Given the description of an element on the screen output the (x, y) to click on. 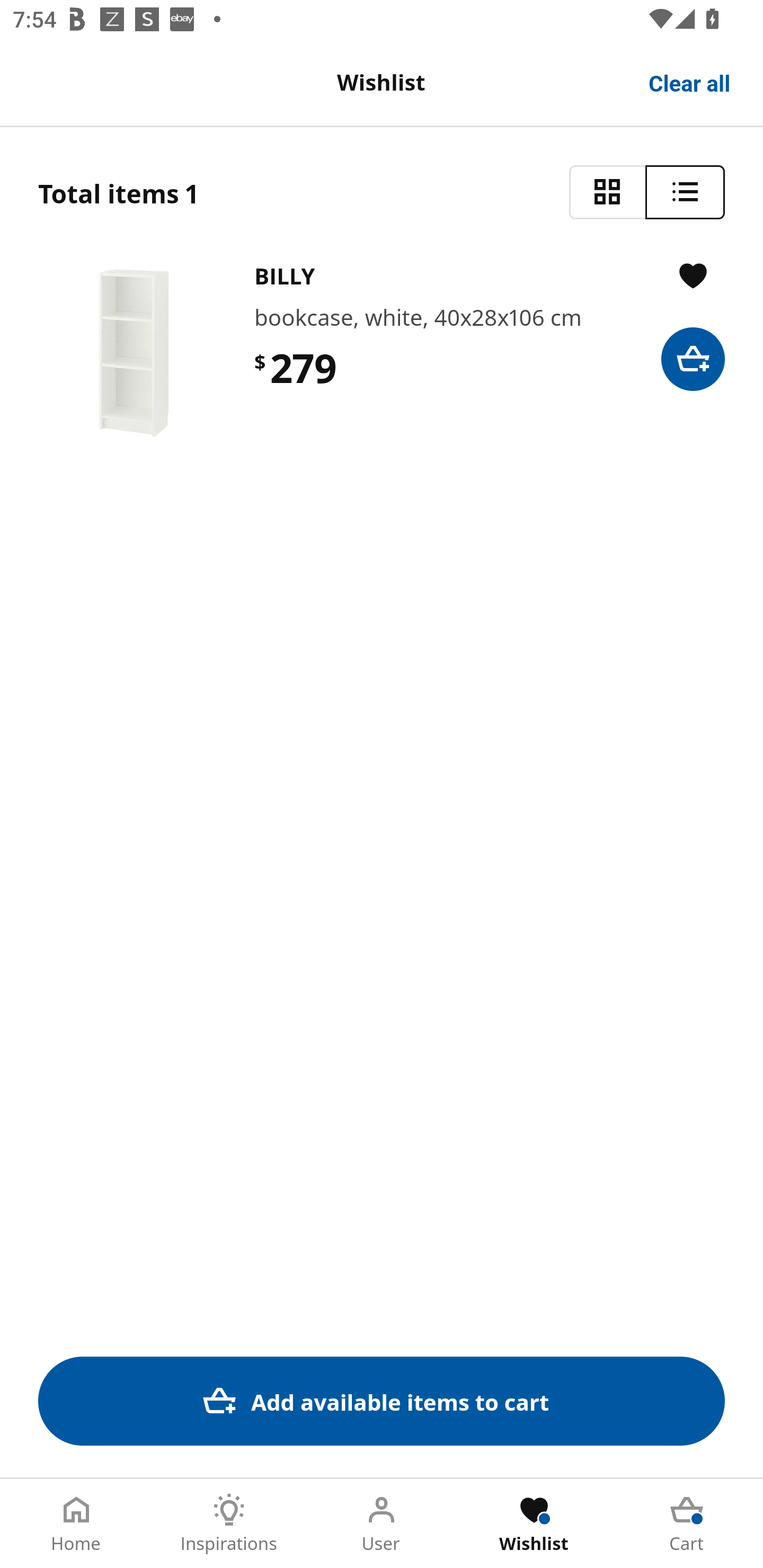
Clear all (689, 81)
​B​I​L​L​Y​
bookcase, white, 40x28x106 cm
$
279 (381, 352)
Add available items to cart (381, 1400)
Home
Tab 1 of 5 (76, 1522)
Inspirations
Tab 2 of 5 (228, 1522)
User
Tab 3 of 5 (381, 1522)
Wishlist
Tab 4 of 5 (533, 1522)
Cart
Tab 5 of 5 (686, 1522)
